Given the description of an element on the screen output the (x, y) to click on. 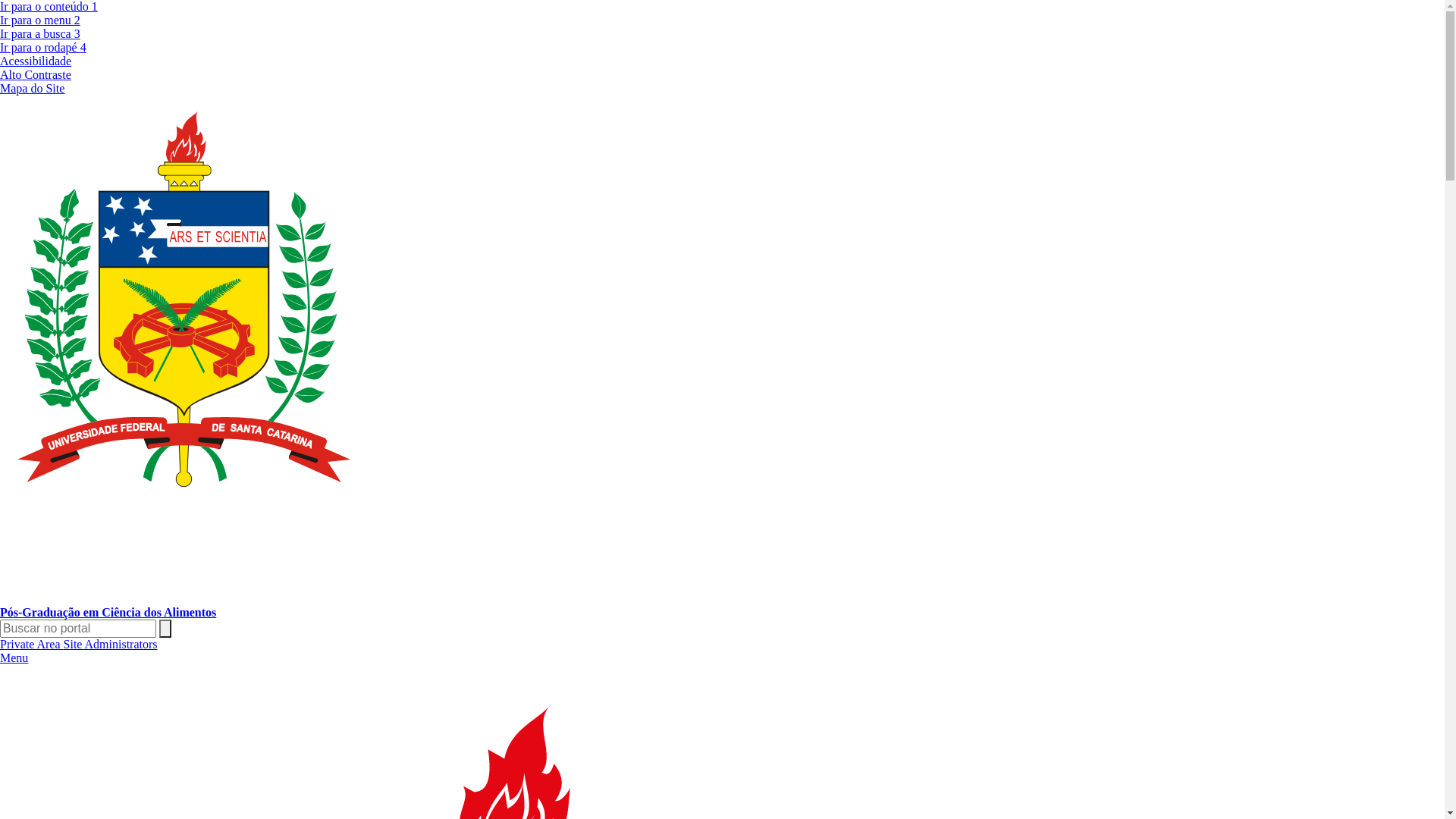
Alto Contraste Element type: text (35, 74)
Private Area Element type: text (31, 643)
Menu Element type: text (14, 657)
Ir para a busca 3 Element type: text (40, 33)
Site Administrators Element type: text (110, 643)
Mapa do Site Element type: text (32, 87)
Ir para o menu 2 Element type: text (40, 19)
Acessibilidade Element type: text (35, 60)
